Given the description of an element on the screen output the (x, y) to click on. 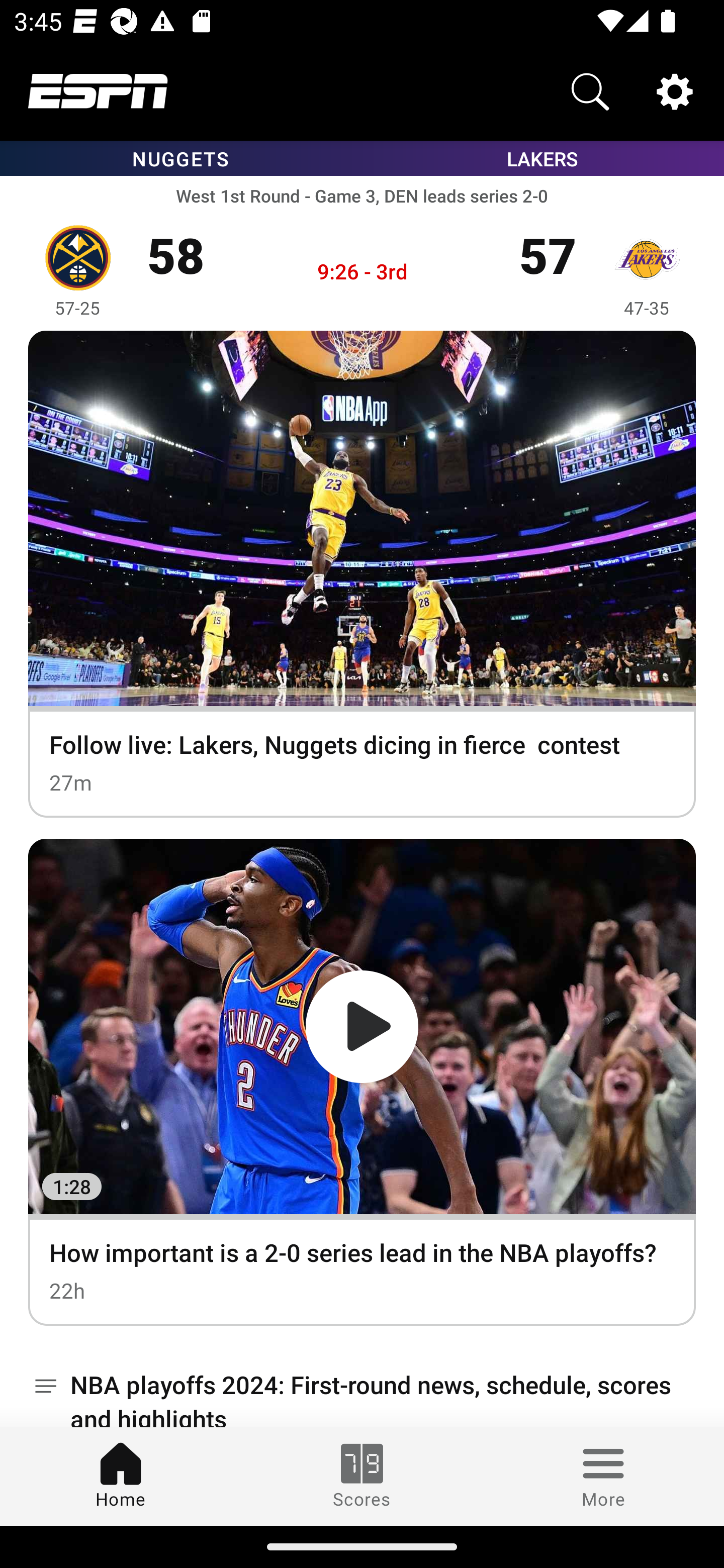
Search (590, 90)
Settings (674, 90)
Scores (361, 1475)
More (603, 1475)
